Given the description of an element on the screen output the (x, y) to click on. 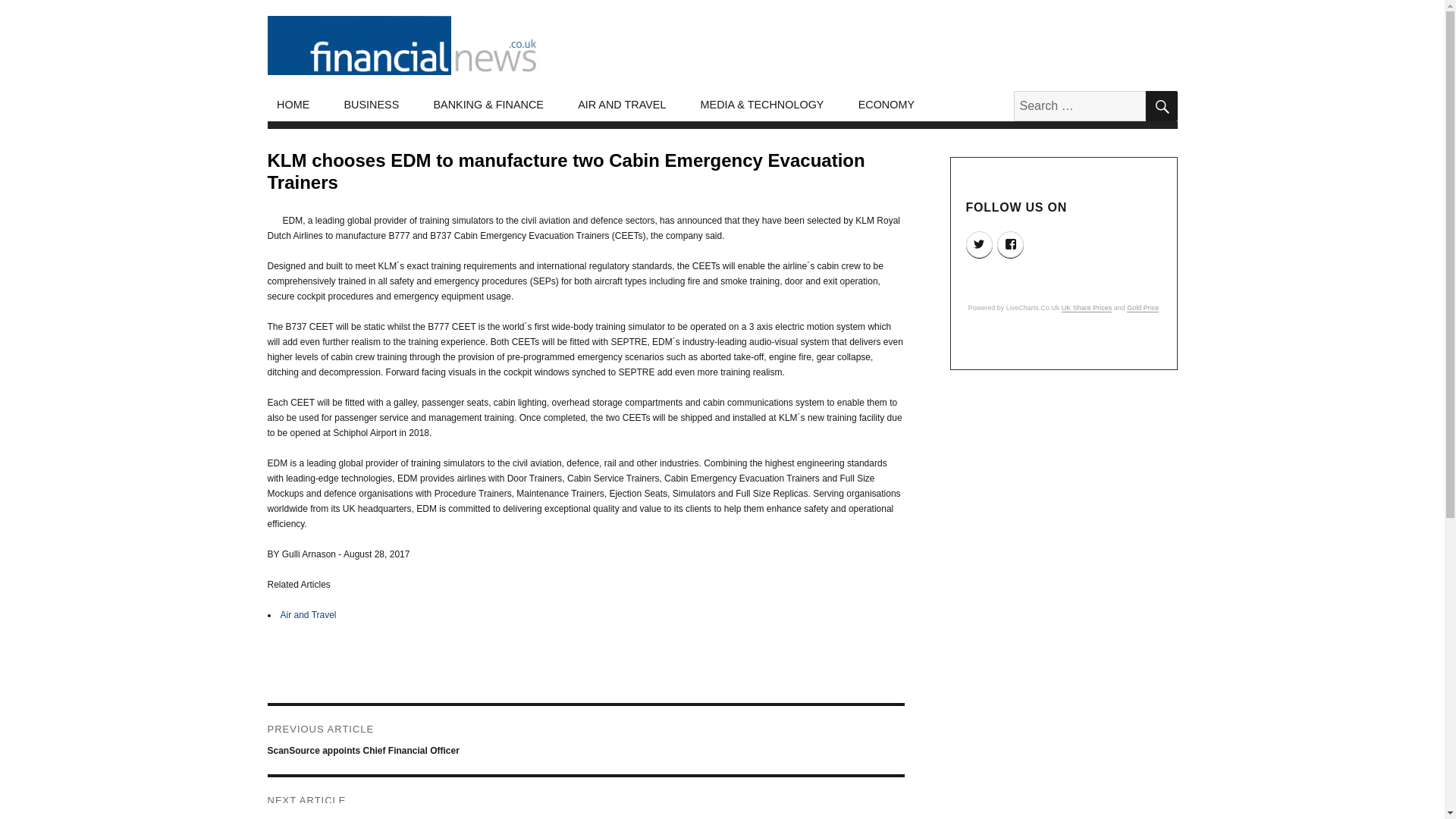
UK Share Prices (1086, 307)
HOME (292, 104)
TWITTER (979, 243)
Gold Price (1142, 307)
AIR AND TRAVEL (622, 104)
ECONOMY (886, 104)
Air and Travel (308, 614)
FACEBOOK (1010, 243)
BUSINESS (371, 104)
